Given the description of an element on the screen output the (x, y) to click on. 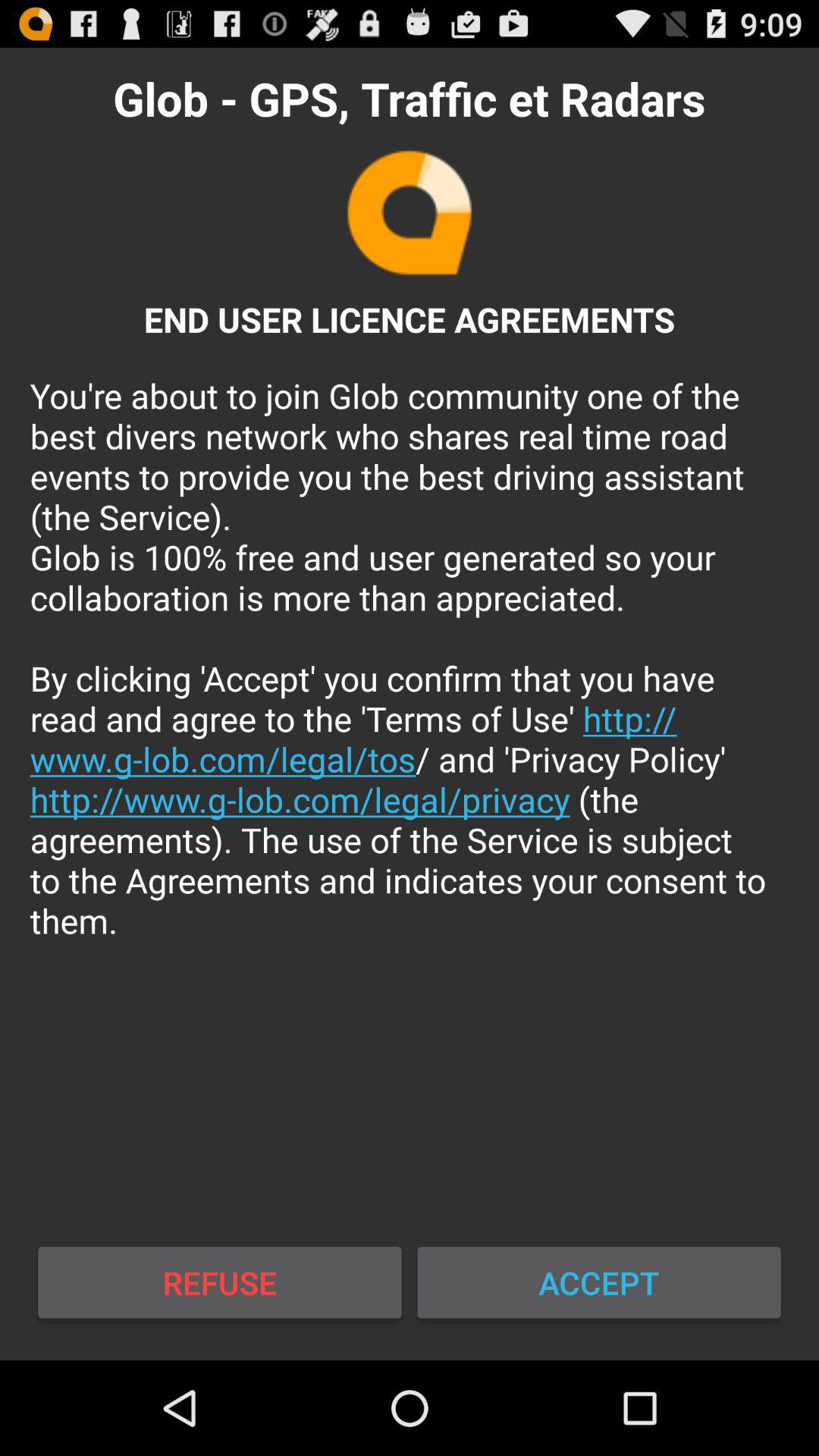
turn on the icon below you re about item (598, 1282)
